Given the description of an element on the screen output the (x, y) to click on. 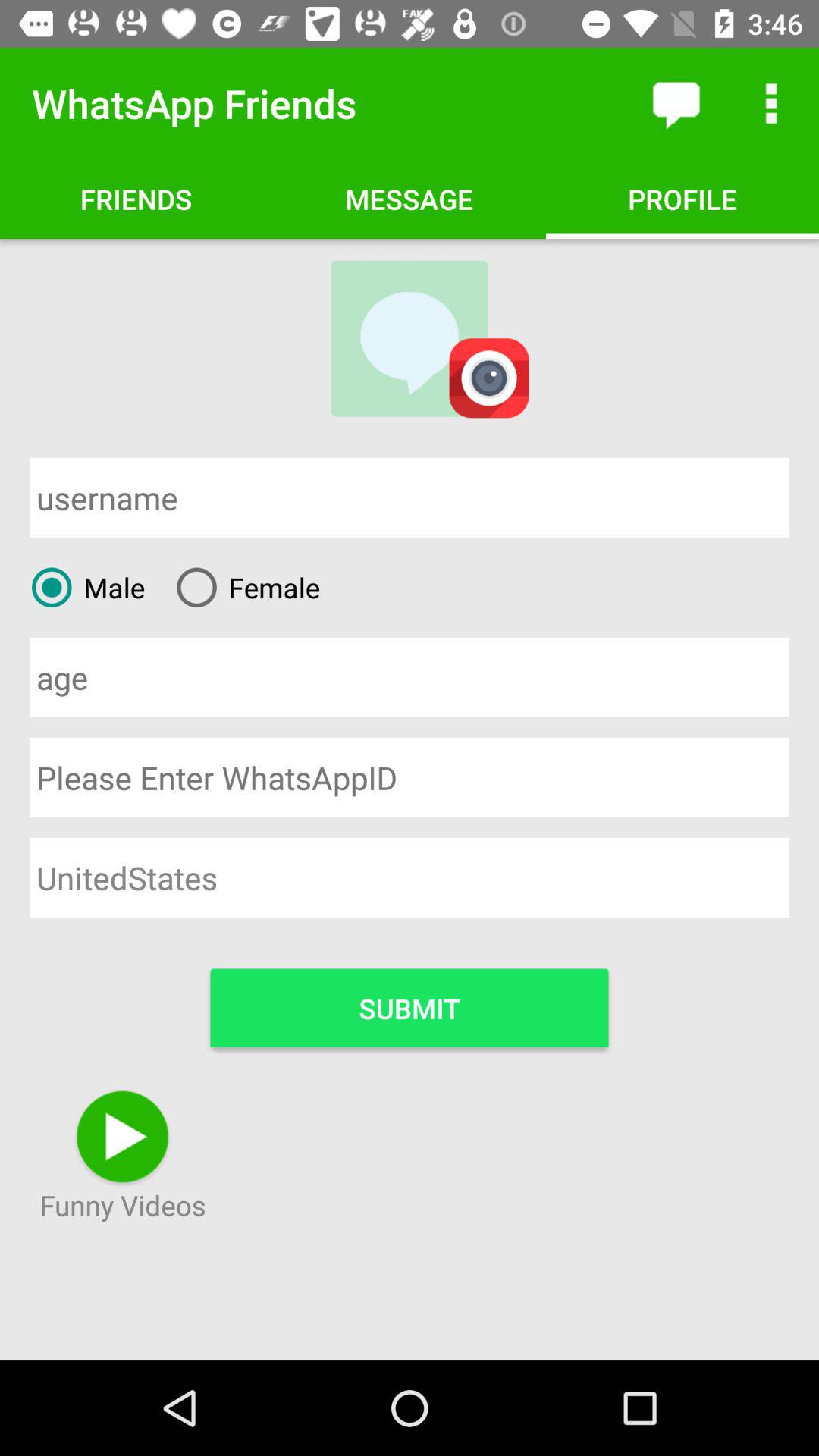
type age (409, 677)
